Given the description of an element on the screen output the (x, y) to click on. 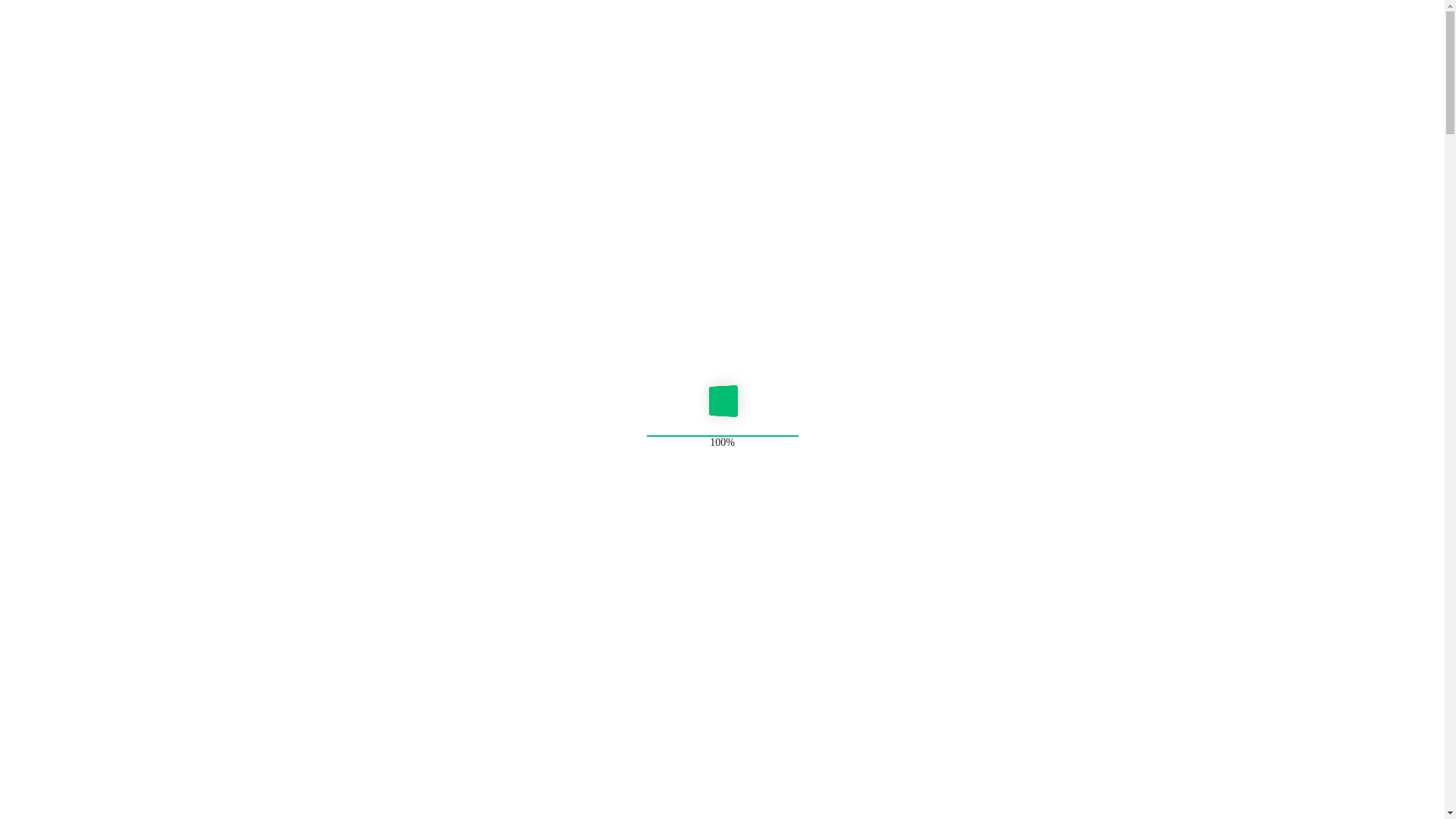
Science Behind Water Element type: text (113, 222)
Videos Element type: text (56, 153)
Contact Us Element type: text (81, 263)
SCIENCE BEHIND SILICA WATER Element type: text (108, 533)
Contact Us Element type: text (70, 168)
Sources Of Aluminum Element type: text (111, 235)
Science behind water Element type: text (102, 125)
Home Element type: text (68, 194)
0 Element type: text (35, 332)
Videos Element type: text (69, 249)
Home Element type: text (55, 96)
Webshop Element type: text (65, 110)
Webshop Element type: text (77, 208)
Sources of Aluminum Element type: text (101, 139)
